Given the description of an element on the screen output the (x, y) to click on. 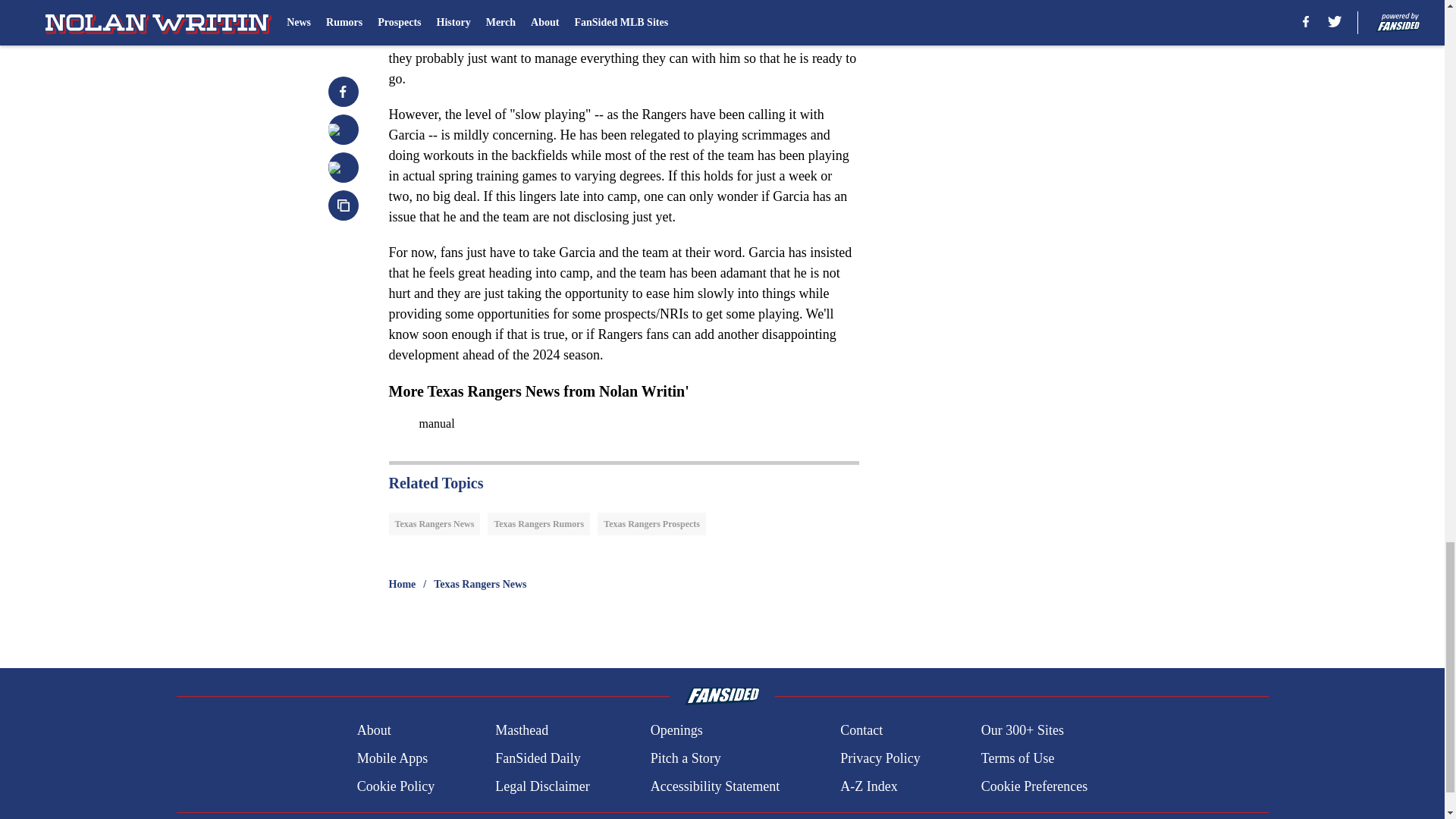
Texas Rangers Prospects (651, 523)
About (373, 730)
Mobile Apps (392, 758)
Texas Rangers News (479, 584)
Texas Rangers Rumors (538, 523)
Texas Rangers News (434, 523)
Accessibility Statement (714, 786)
Pitch a Story (685, 758)
Openings (676, 730)
Masthead (521, 730)
Privacy Policy (880, 758)
Terms of Use (1017, 758)
FanSided Daily (537, 758)
Contact (861, 730)
Cookie Policy (395, 786)
